Given the description of an element on the screen output the (x, y) to click on. 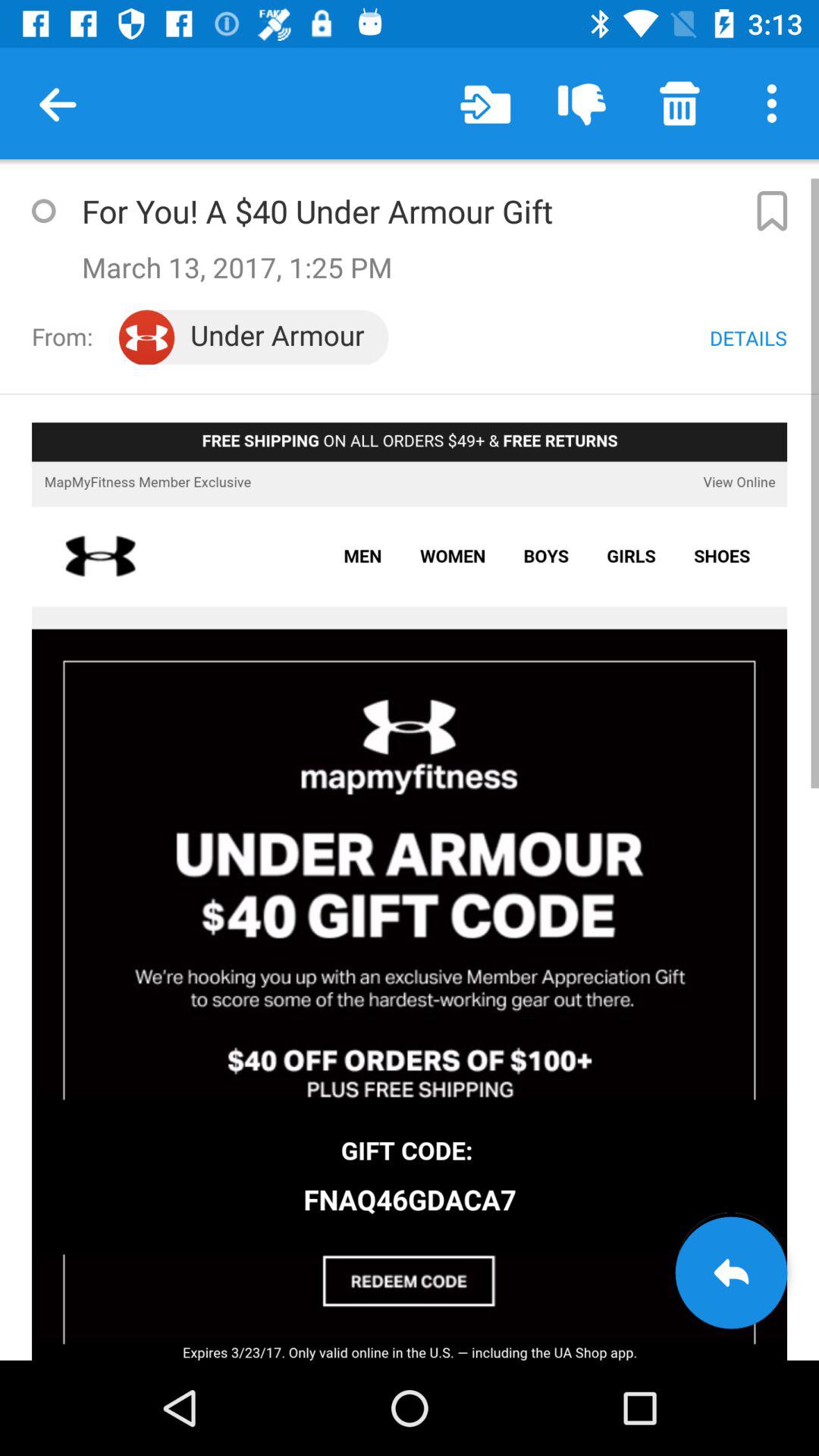
go back (731, 1272)
